Given the description of an element on the screen output the (x, y) to click on. 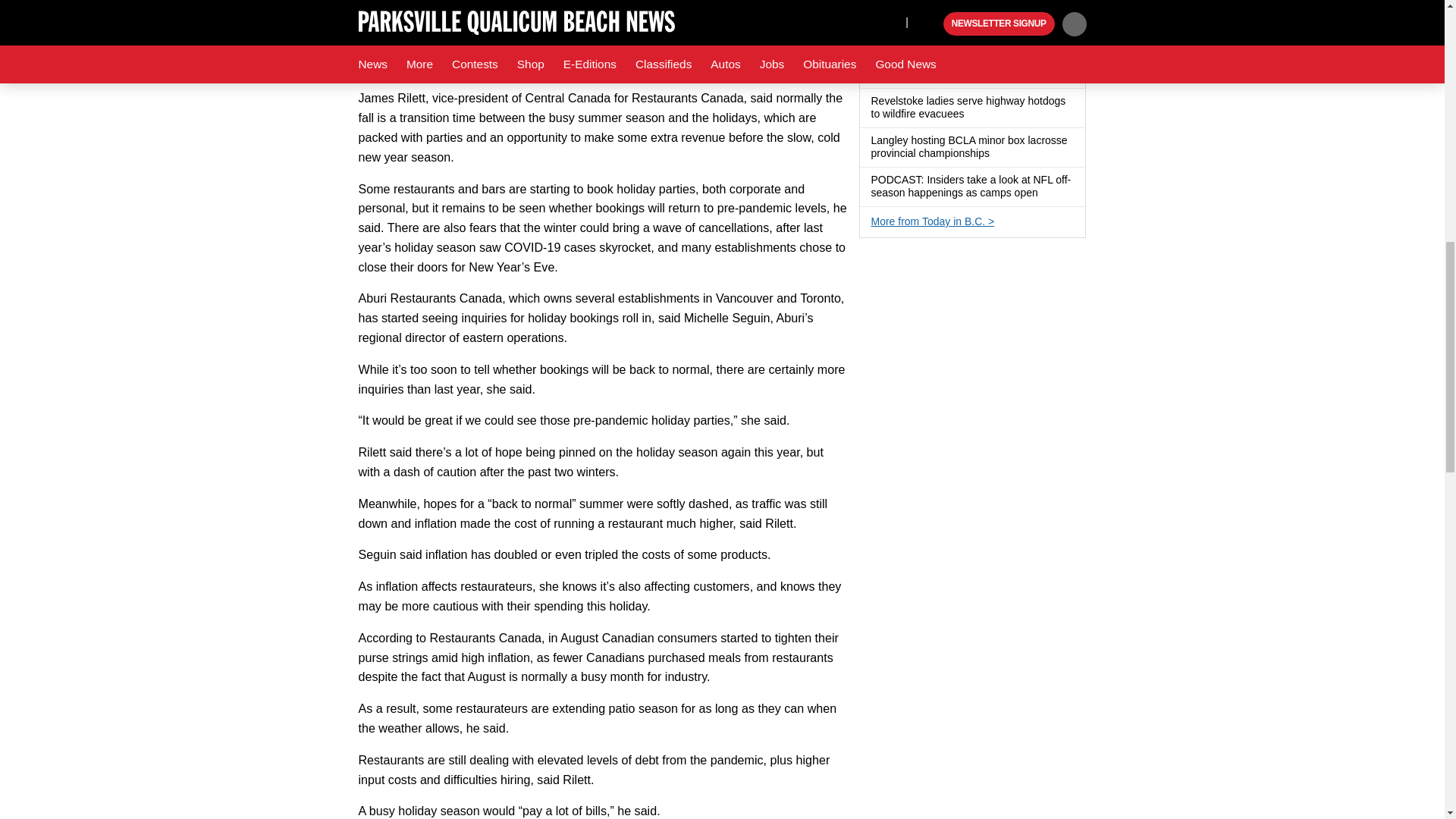
Has a gallery (998, 153)
Has a gallery (972, 114)
